Given the description of an element on the screen output the (x, y) to click on. 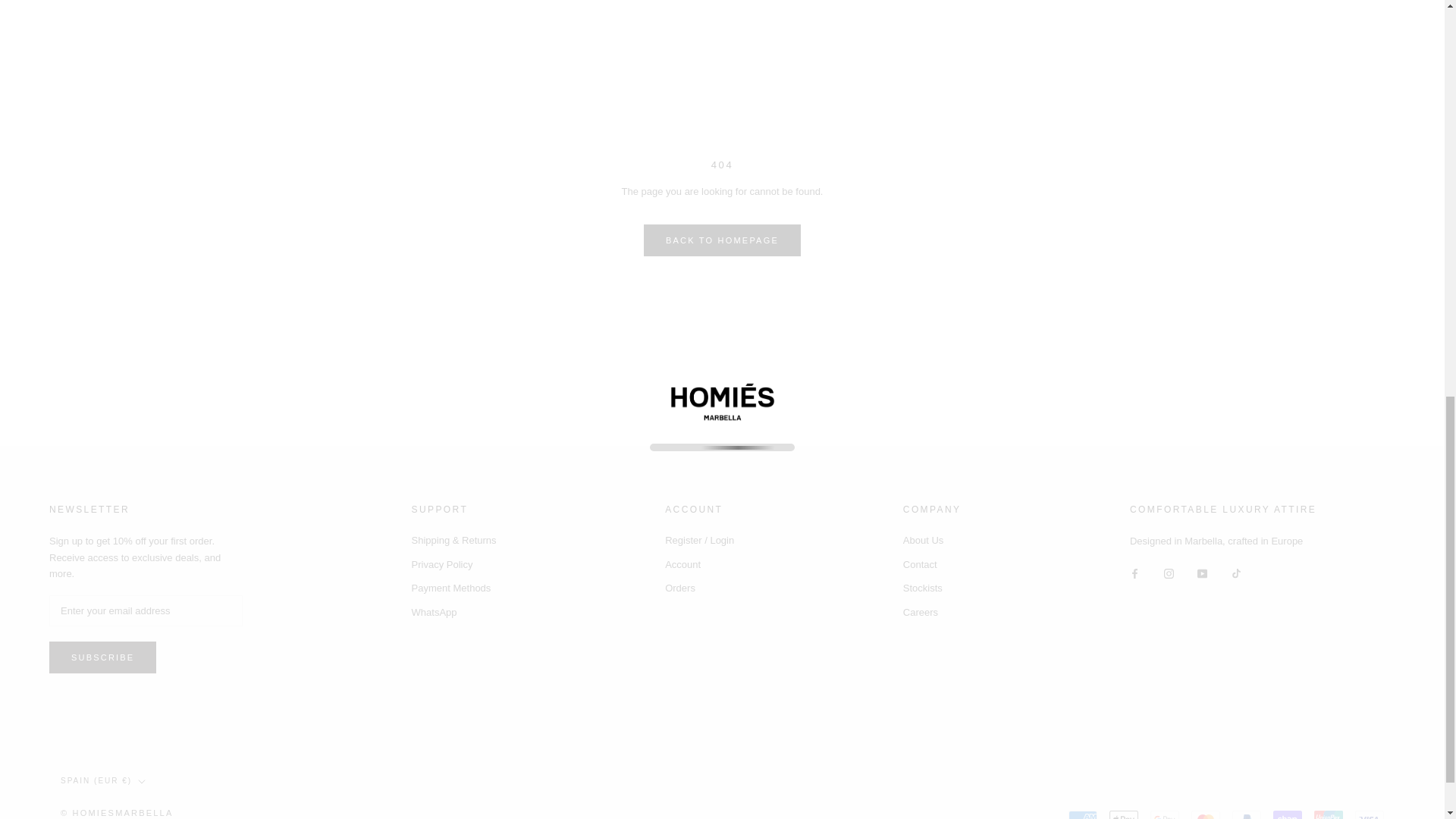
American Express (1082, 814)
Apple Pay (1123, 814)
PayPal (1245, 814)
Mastercard (1205, 814)
Union Pay (1328, 814)
Google Pay (1164, 814)
Visa (1369, 814)
Shop Pay (1286, 814)
